Given the description of an element on the screen output the (x, y) to click on. 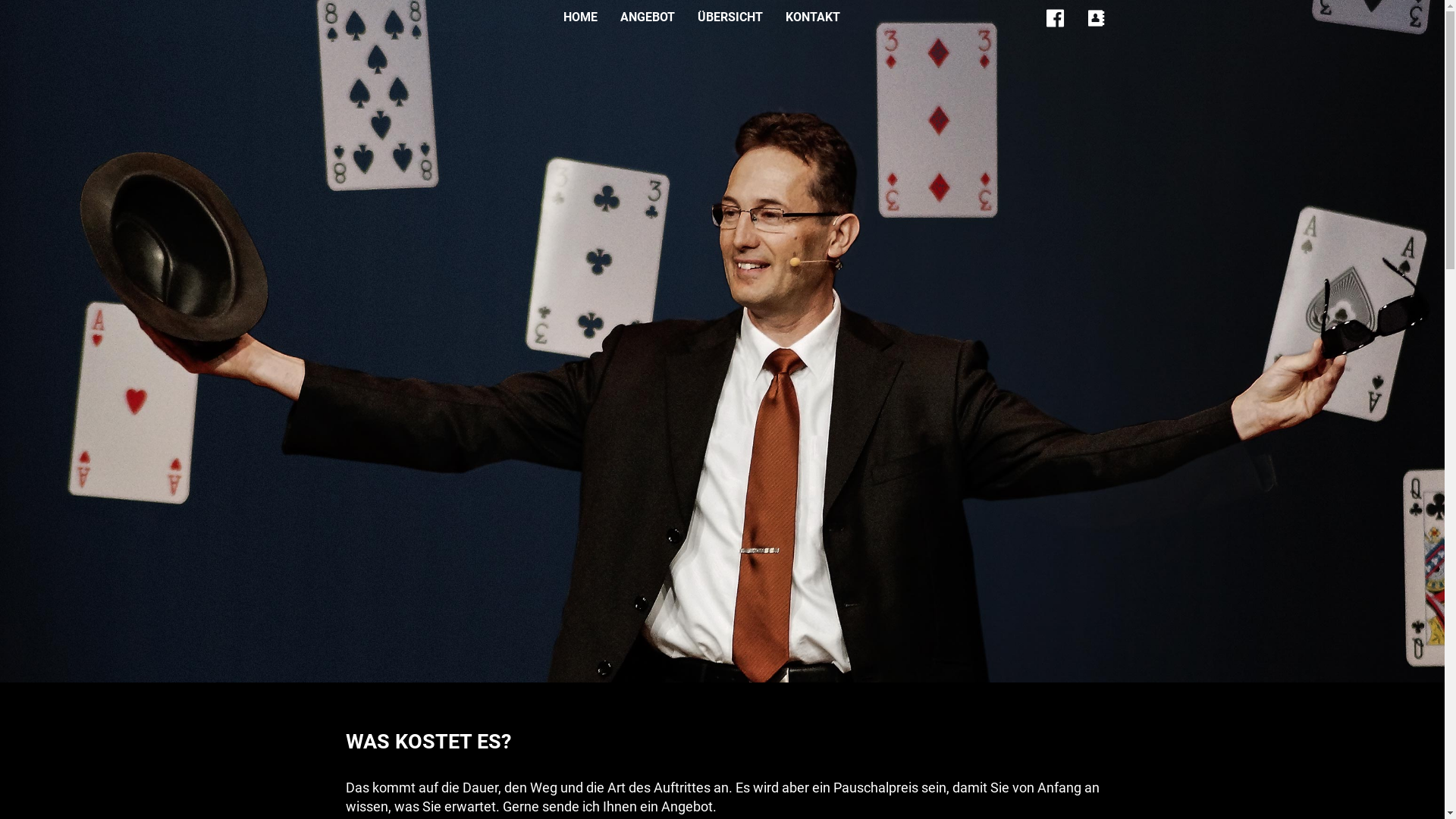
Meine Facebook-Seite Element type: hover (1055, 18)
Tragen Sie meine Kontaktdaten in Ihr Adressbuch ein Element type: hover (1096, 18)
ANGEBOT Element type: text (647, 17)
HOME Element type: text (580, 17)
KONTAKT Element type: text (812, 17)
